Given the description of an element on the screen output the (x, y) to click on. 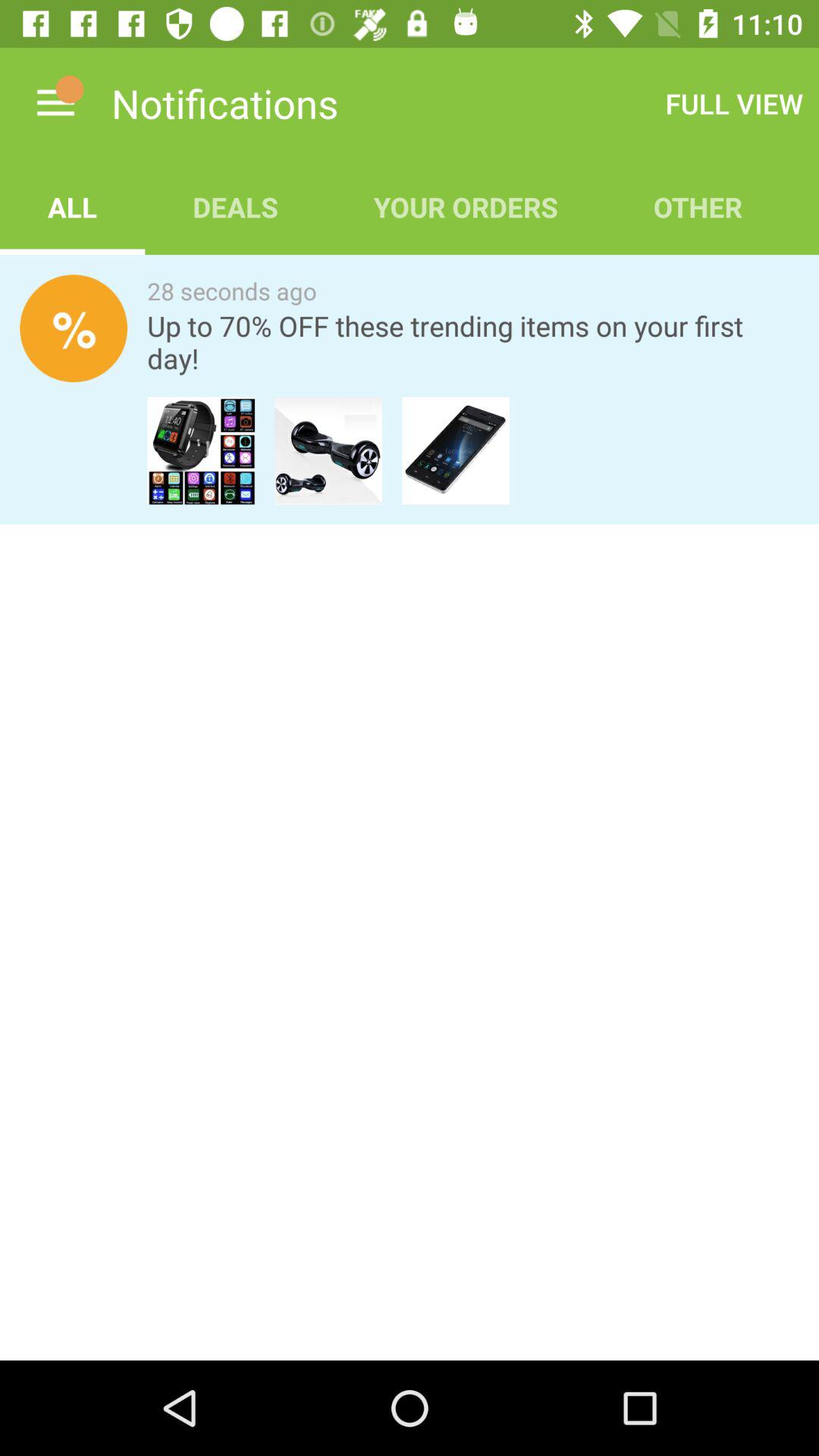
tap icon next to notifications item (55, 103)
